Given the description of an element on the screen output the (x, y) to click on. 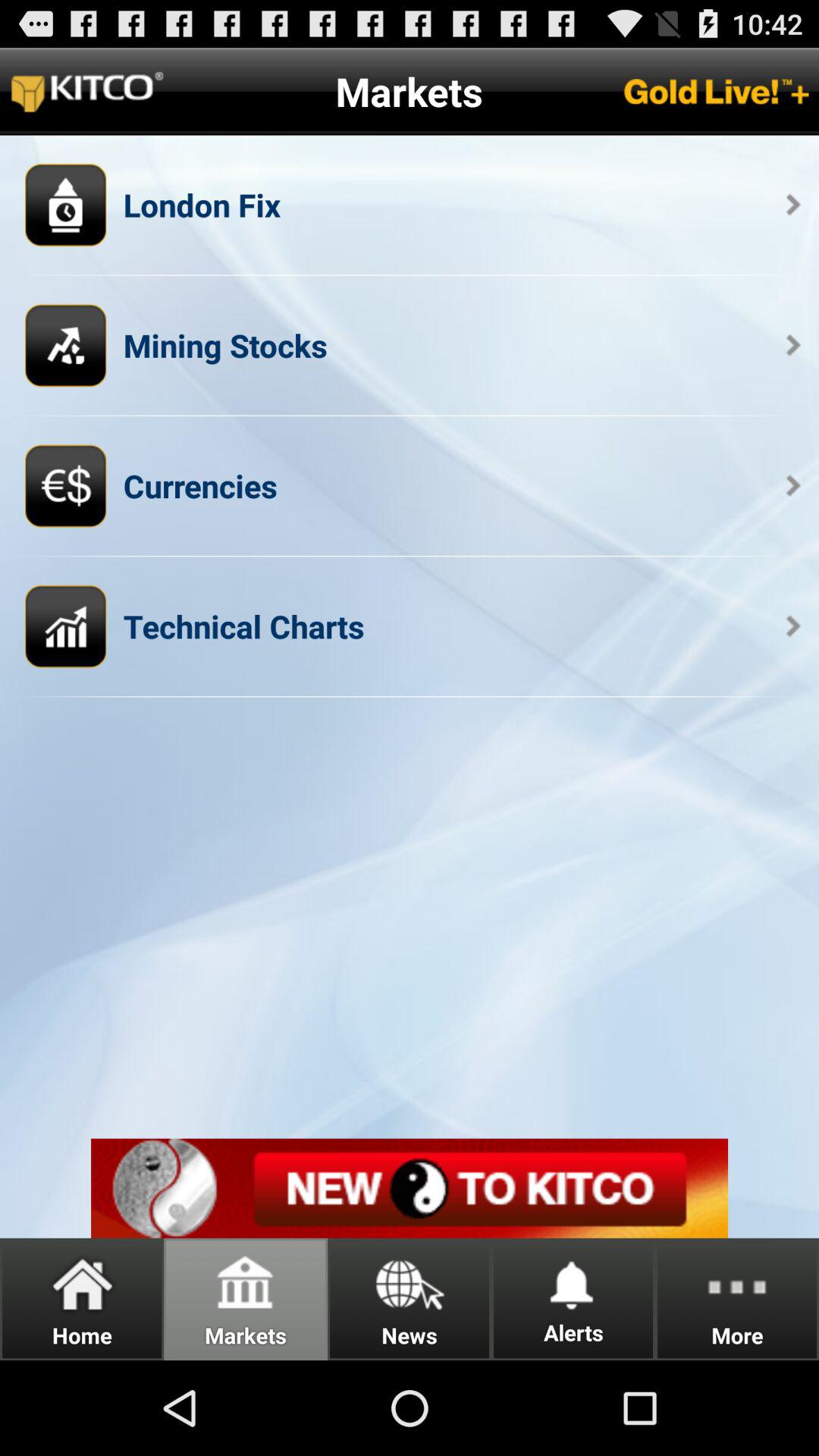
new to kitco (409, 1188)
